Given the description of an element on the screen output the (x, y) to click on. 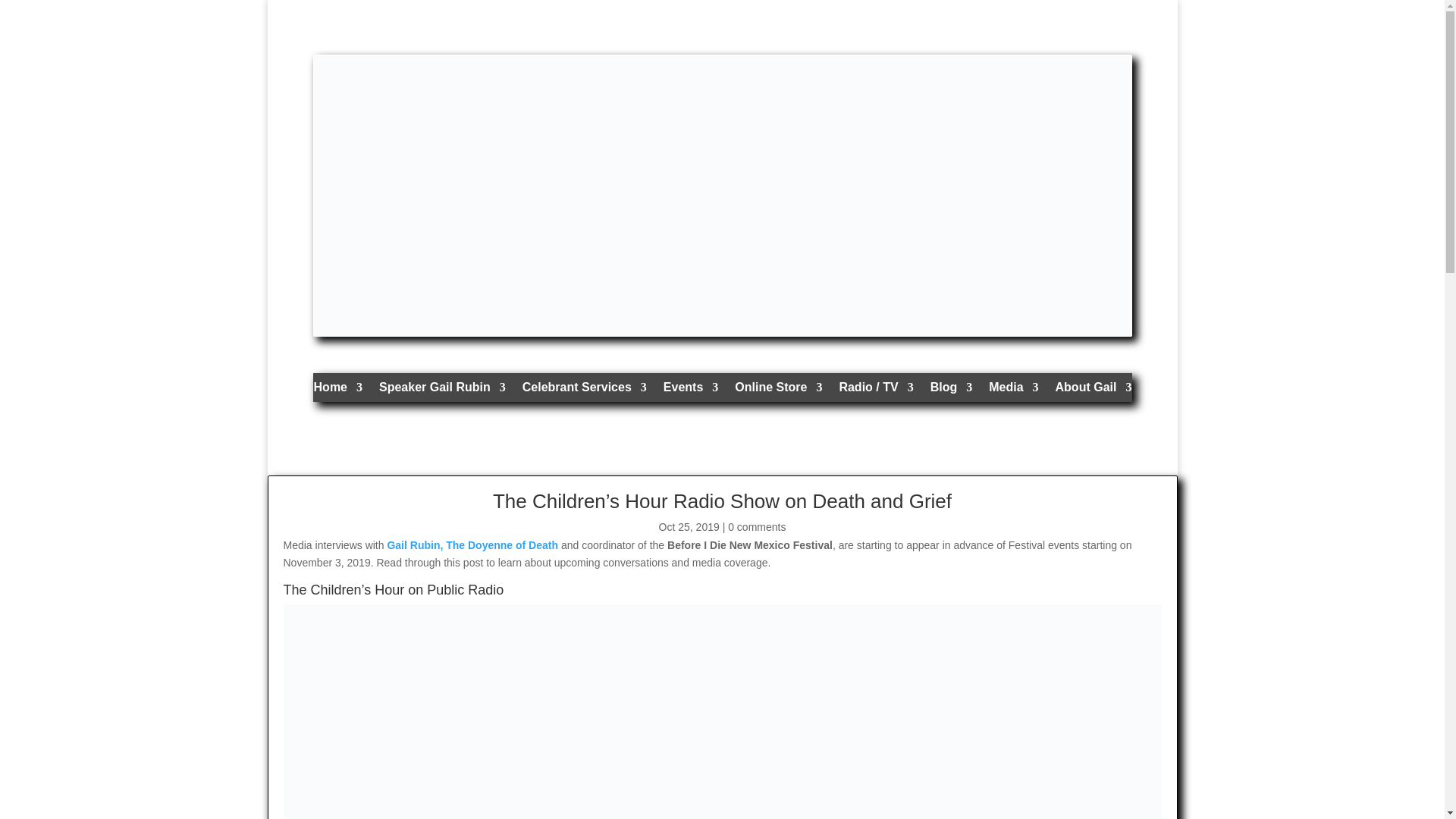
Media (1013, 390)
Events (690, 390)
Funeral Services (584, 390)
Blog (951, 390)
Home (338, 390)
Speaker Gail Rubin (441, 390)
About Gail (1093, 390)
Online Store (778, 390)
Celebrant Services (584, 390)
